Given the description of an element on the screen output the (x, y) to click on. 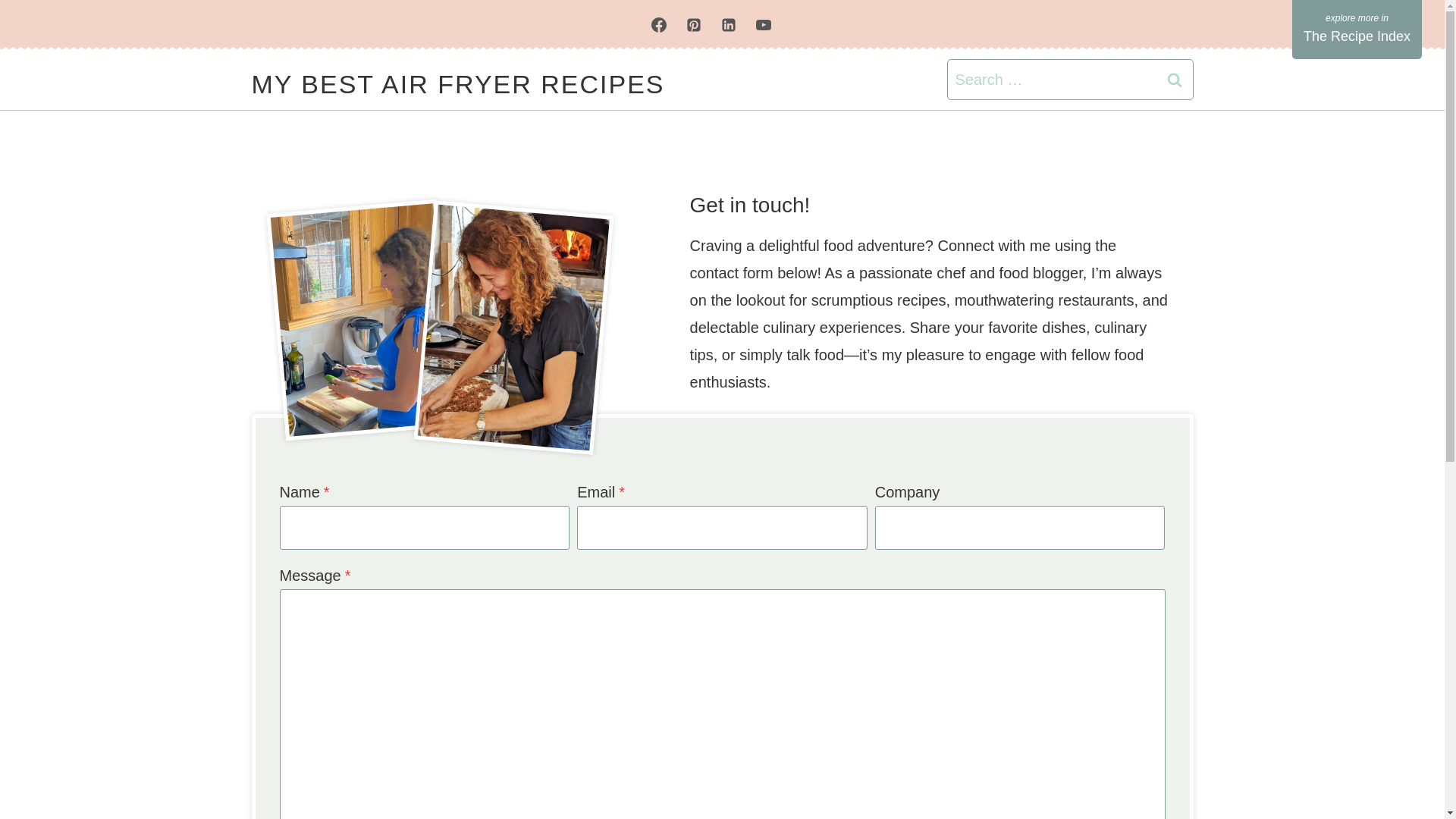
Search (1174, 78)
MY BEST AIR FRYER RECIPES (458, 84)
The Recipe Index (1357, 29)
Search (1174, 78)
Search (1174, 78)
